Given the description of an element on the screen output the (x, y) to click on. 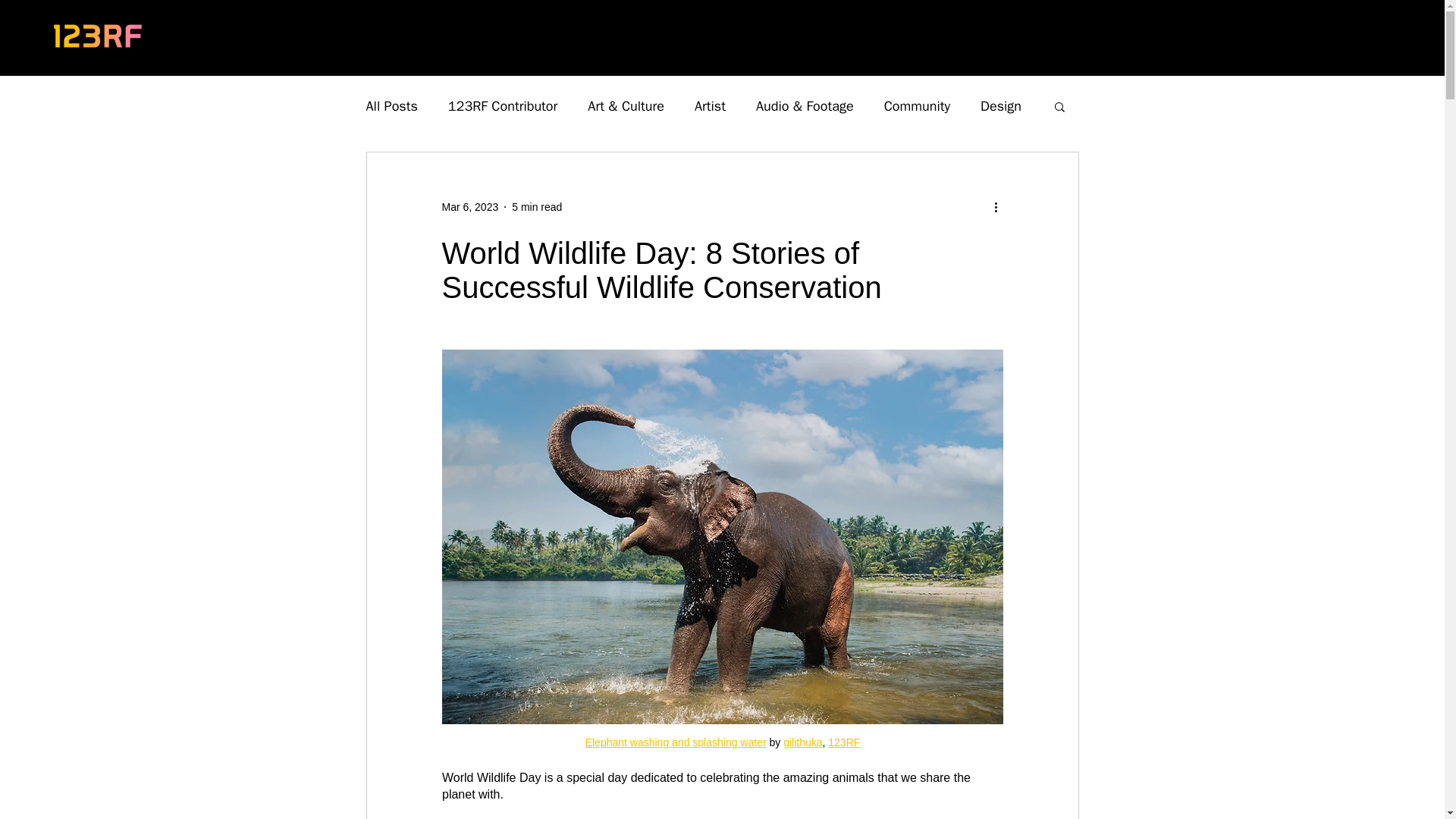
Artist (709, 106)
5 min read (537, 205)
Design (1000, 106)
Mar 6, 2023 (469, 205)
123RF Contributor (502, 106)
123RF (844, 741)
Elephant washing and splashing water (675, 741)
All Posts (390, 106)
gilithuka (802, 741)
Community (916, 106)
